Given the description of an element on the screen output the (x, y) to click on. 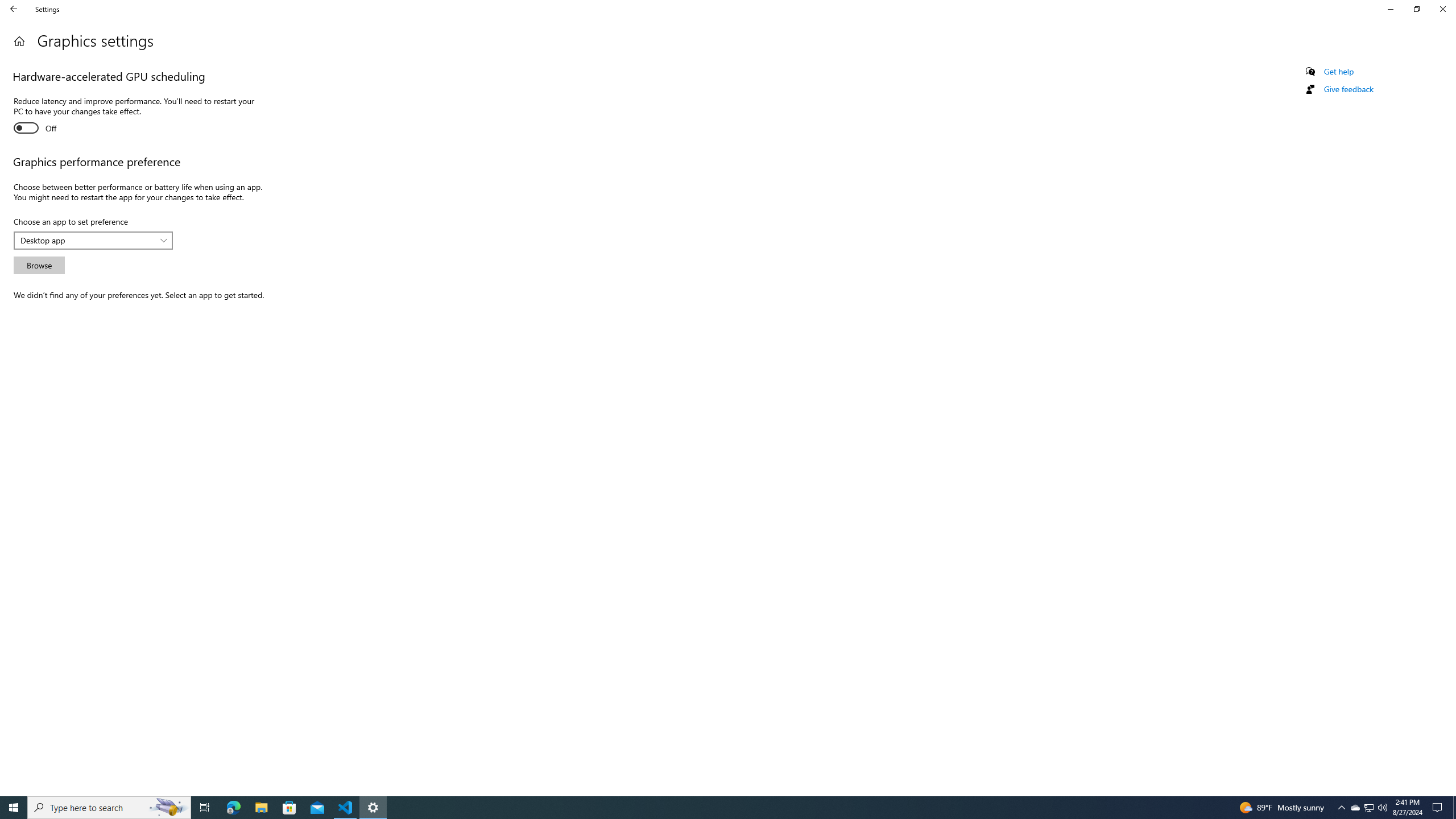
Minimize Settings (1390, 9)
Running applications (717, 807)
File Explorer (261, 807)
Browse (39, 265)
Start (13, 807)
Desktop app (87, 240)
Choose an app to set preference (93, 240)
User Promoted Notification Area (1368, 807)
Home (19, 40)
Action Center, No new notifications (1439, 807)
Visual Studio Code - 1 running window (345, 807)
Notification Chevron (1341, 807)
Task View (204, 807)
